Given the description of an element on the screen output the (x, y) to click on. 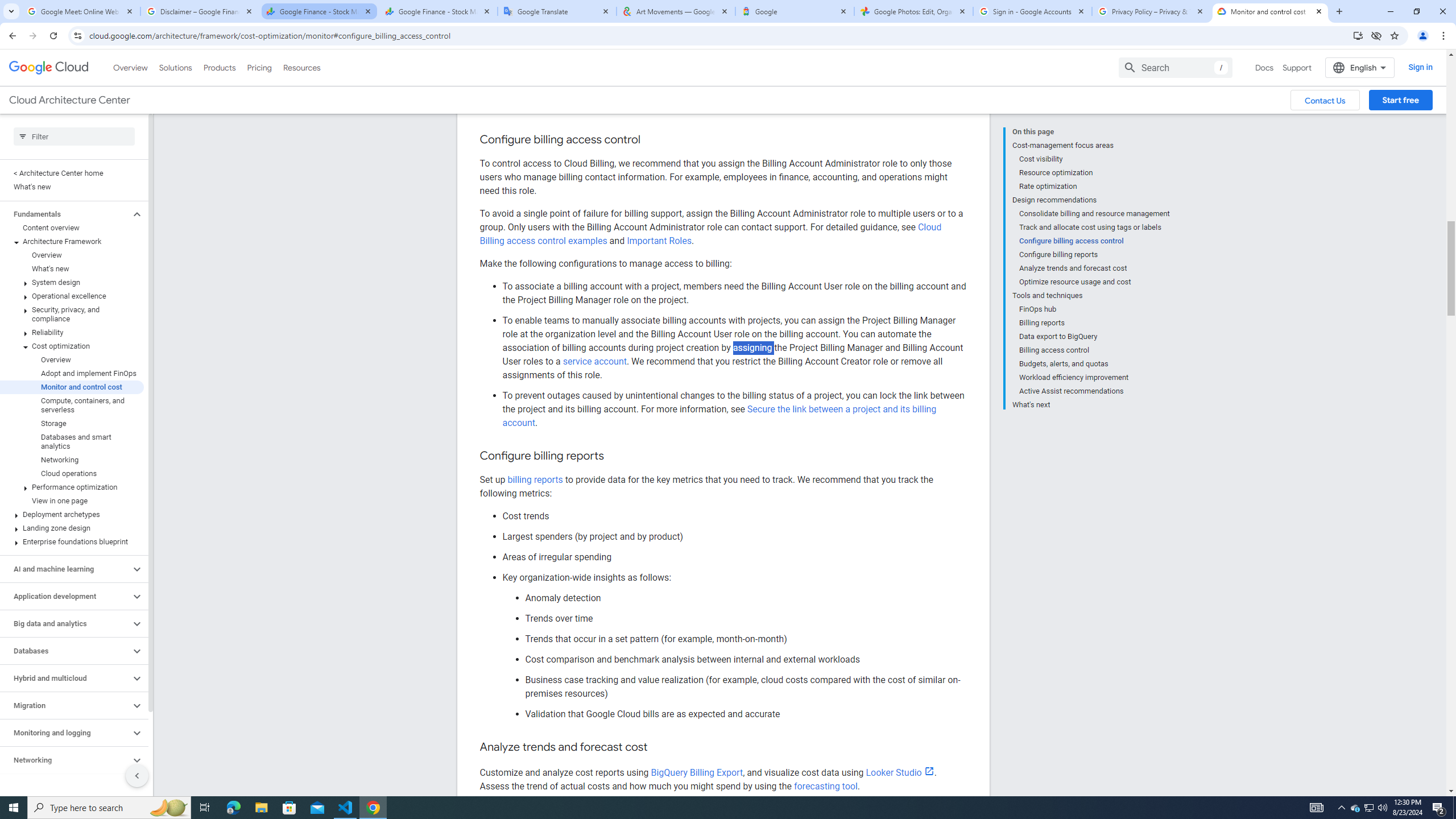
Google Cloud (48, 18)
Content overview (72, 178)
Track and allocate cost using tags or labels (1094, 178)
service account (594, 361)
Analyze trends and forecast cost (1094, 219)
Budgets, alerts, and quotas (1094, 314)
Copy link to this section: Configure billing reports (614, 456)
Design recommendations (1090, 150)
Operational excellence (72, 246)
Rate optimization (1094, 137)
Google Translate (556, 11)
